Given the description of an element on the screen output the (x, y) to click on. 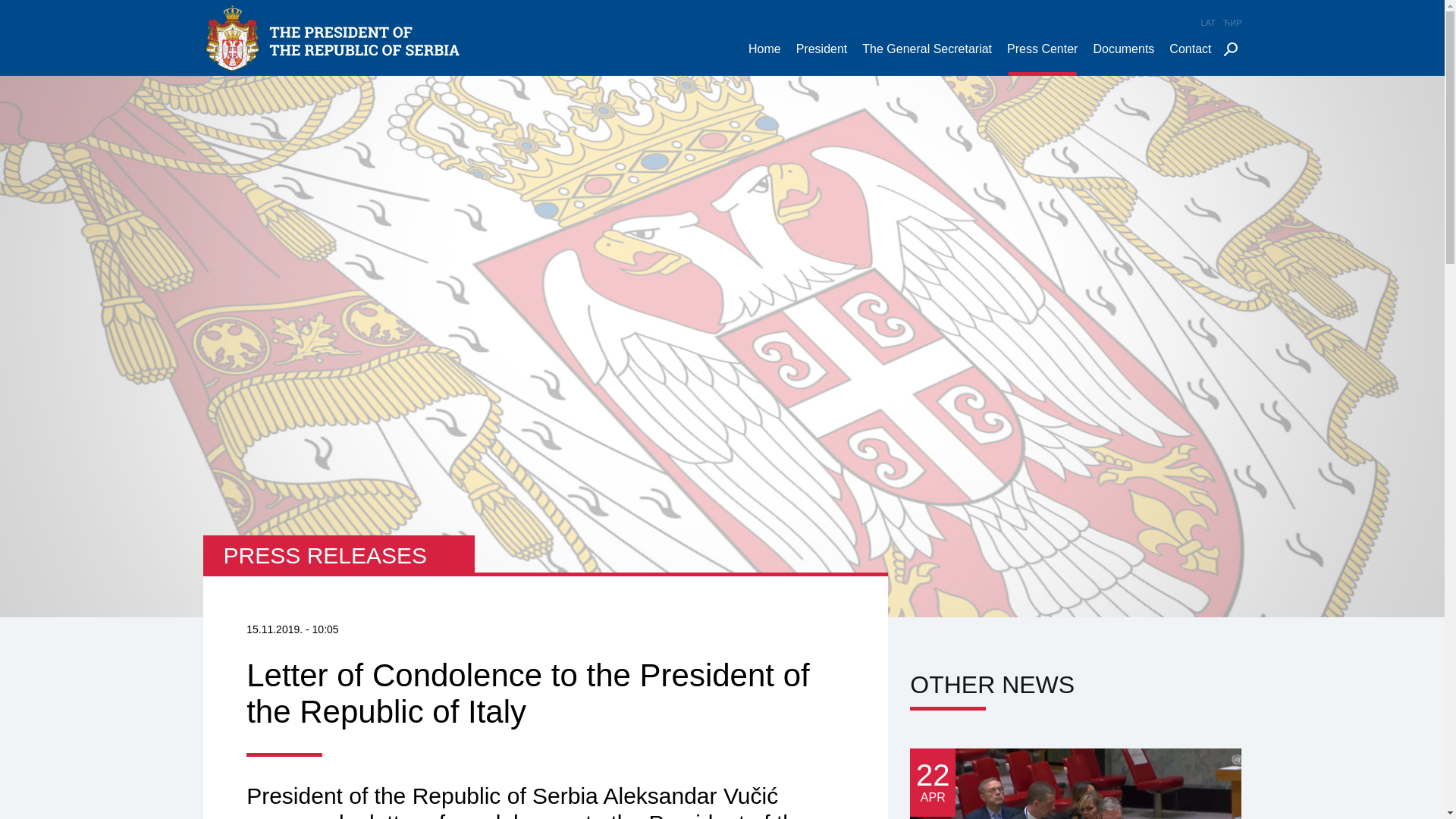
The General Secretariat (926, 58)
Contact (1189, 58)
Press Center (1041, 58)
Documents (1122, 58)
Home (765, 58)
LAT (1208, 22)
President (822, 58)
